Given the description of an element on the screen output the (x, y) to click on. 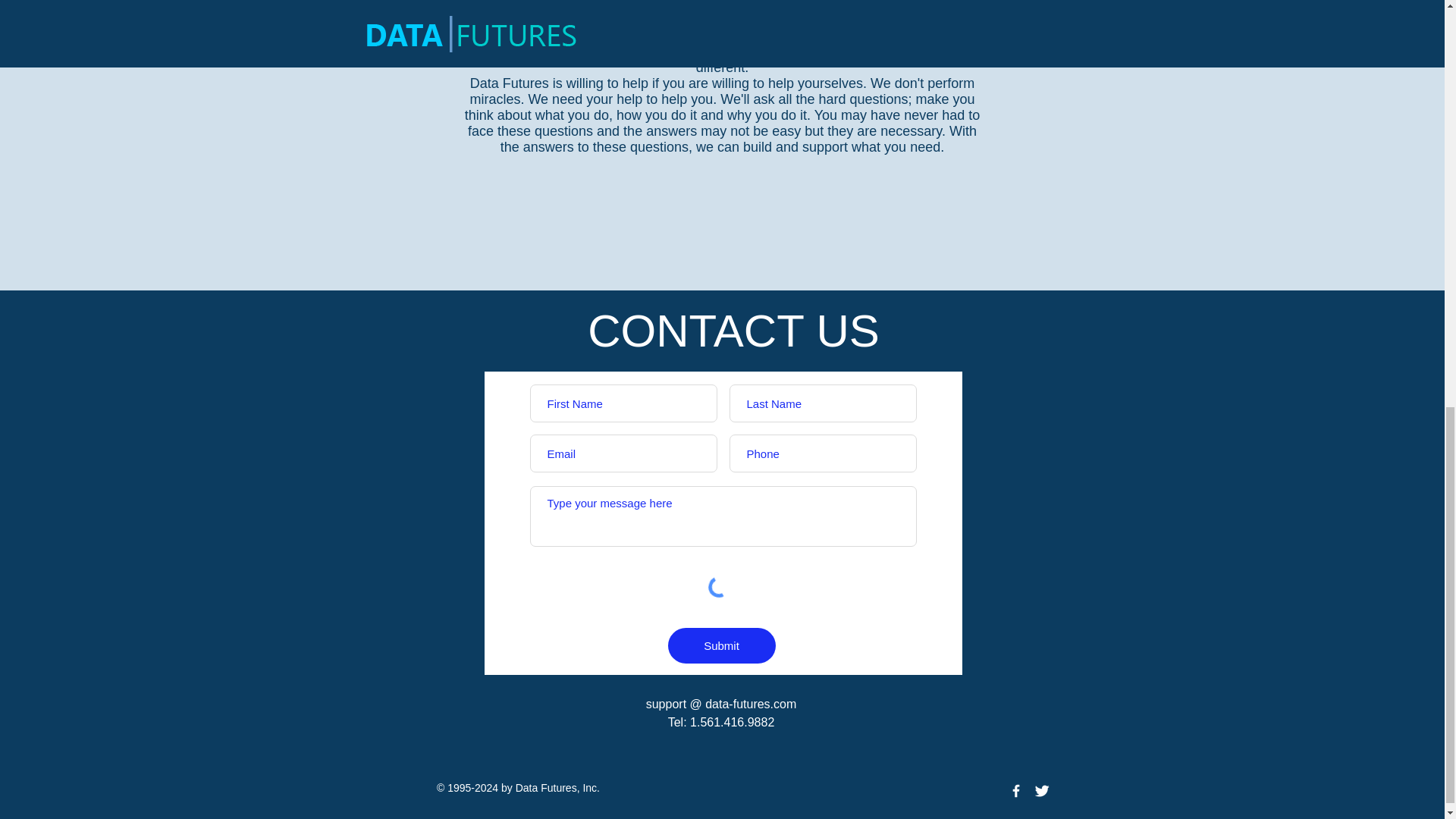
Submit (720, 645)
